Given the description of an element on the screen output the (x, y) to click on. 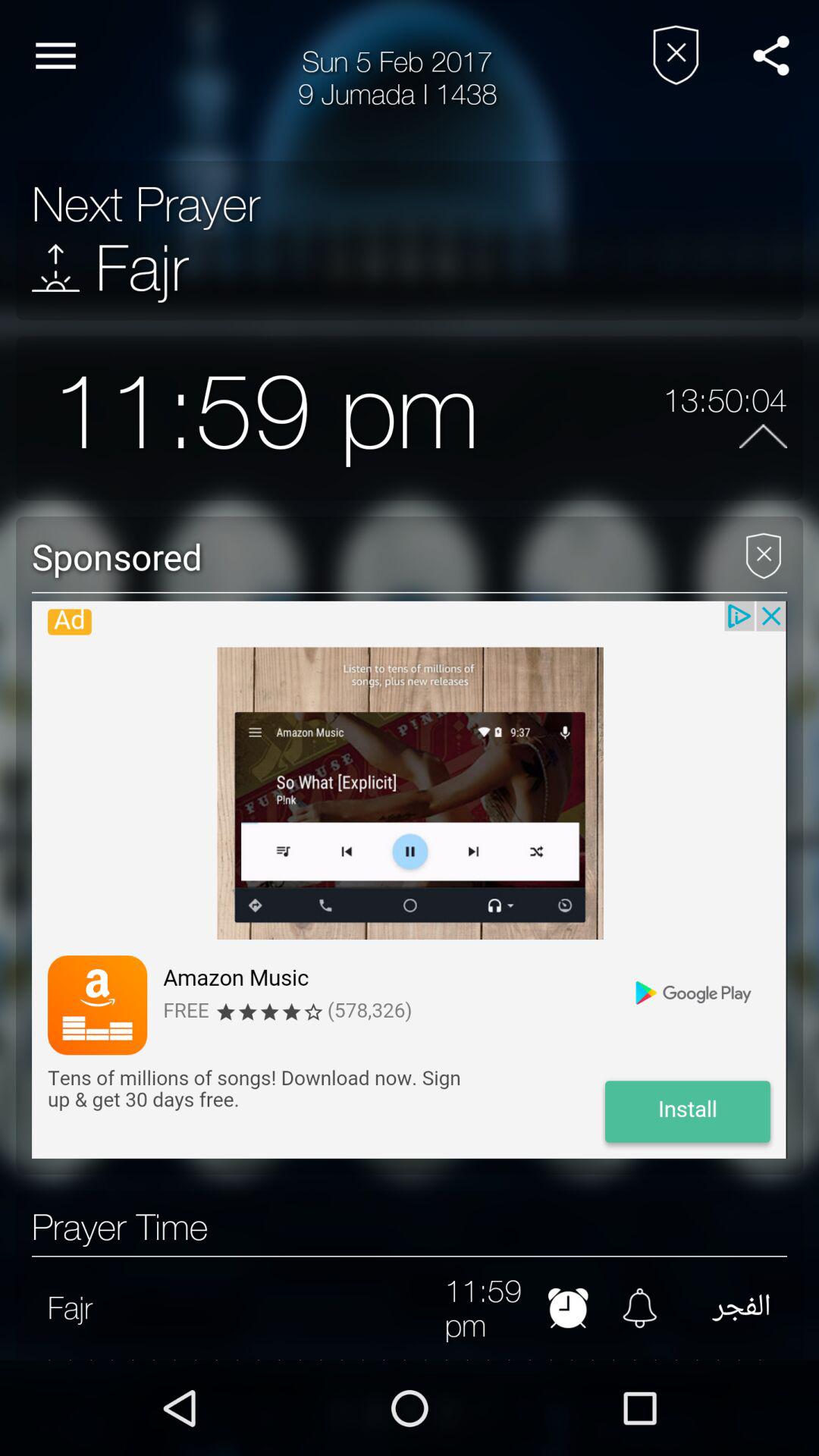
tap the icon to the left of fajr icon (55, 267)
